Given the description of an element on the screen output the (x, y) to click on. 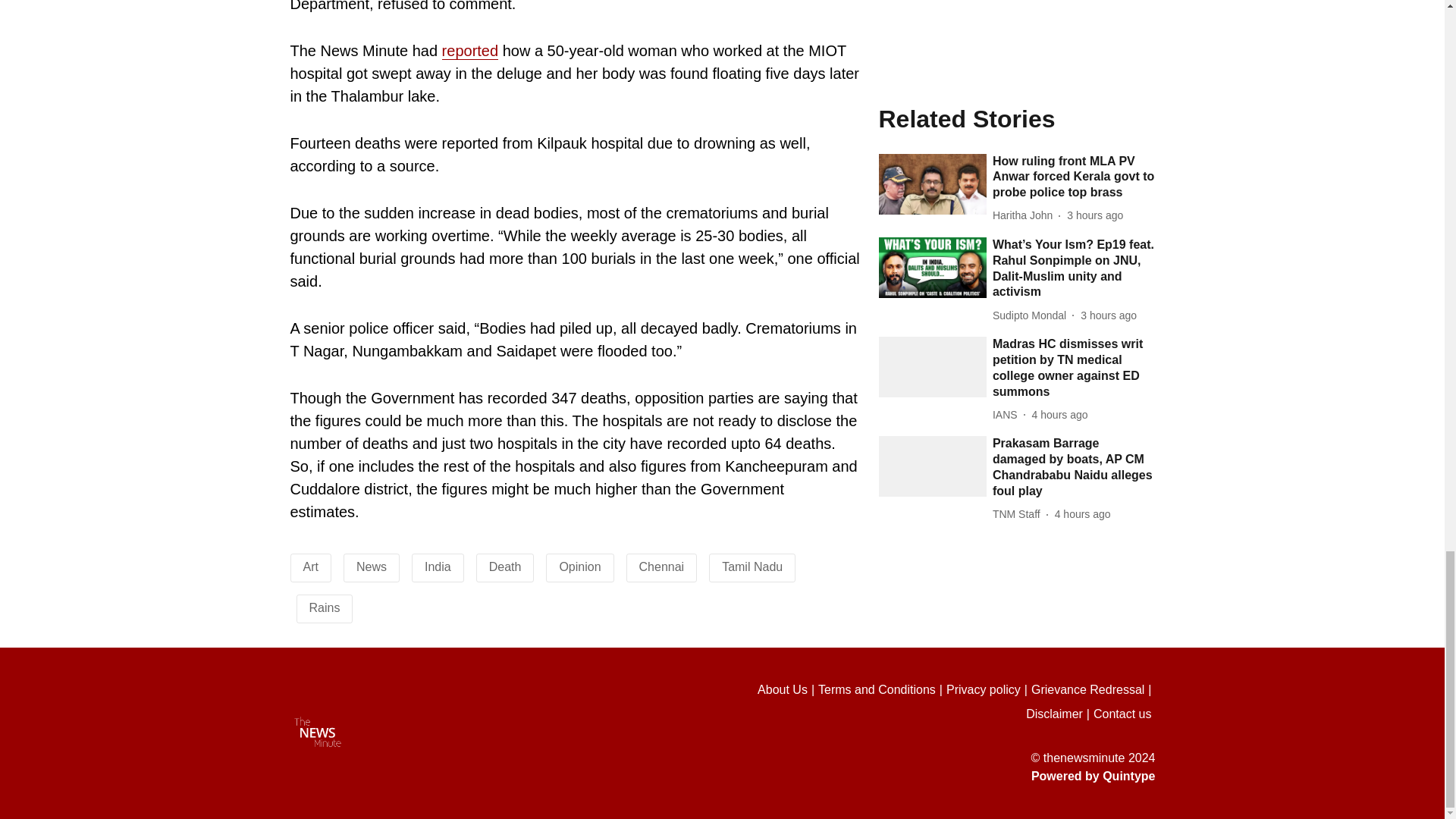
reported (470, 50)
Tamil Nadu (752, 566)
Art (310, 566)
Opinion (579, 566)
India (438, 566)
Rains (324, 607)
Chennai (661, 566)
News (371, 566)
Death (505, 566)
